Given the description of an element on the screen output the (x, y) to click on. 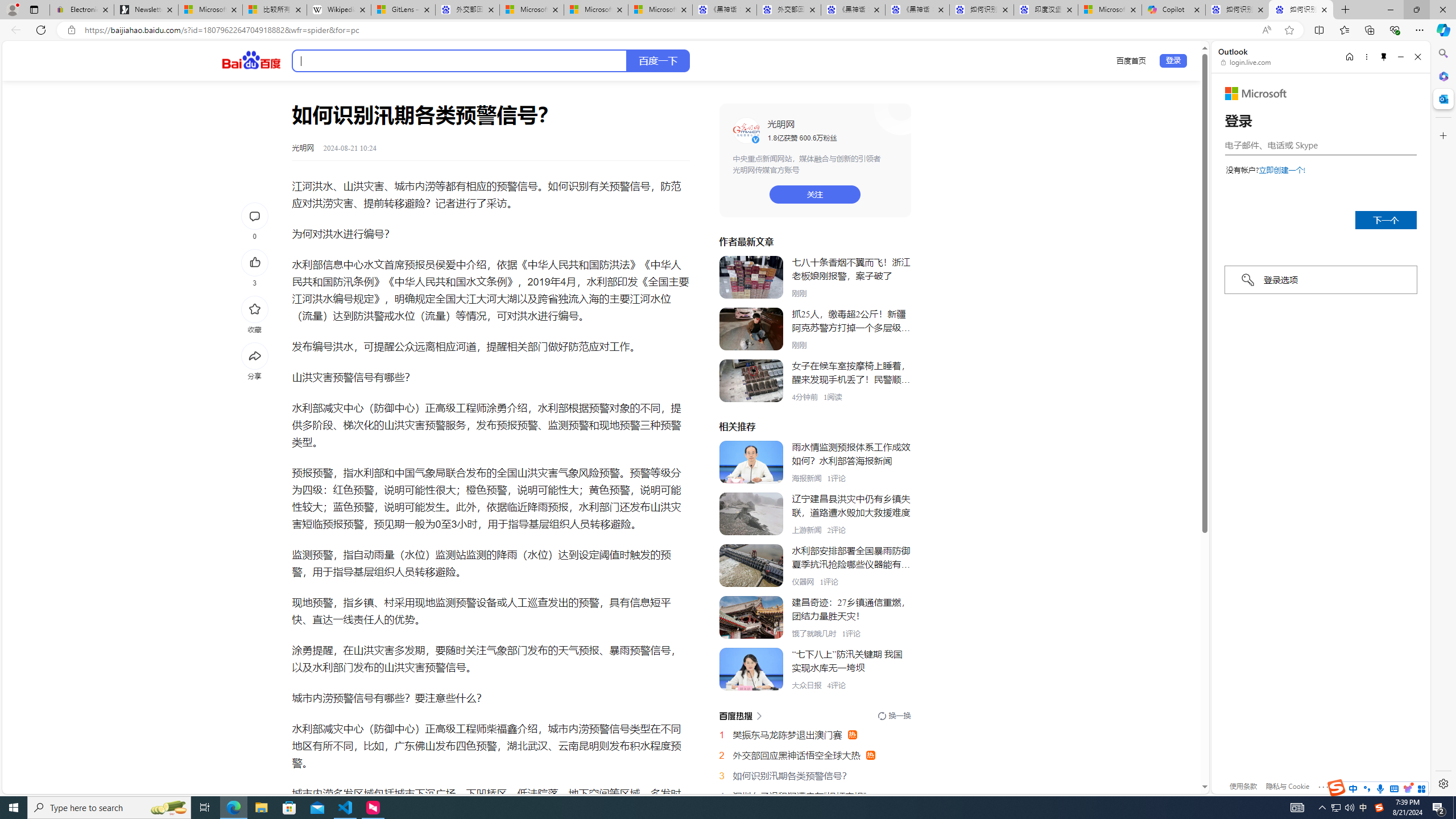
login.live.com (1246, 61)
Class: _2C4fV (459, 60)
